Given the description of an element on the screen output the (x, y) to click on. 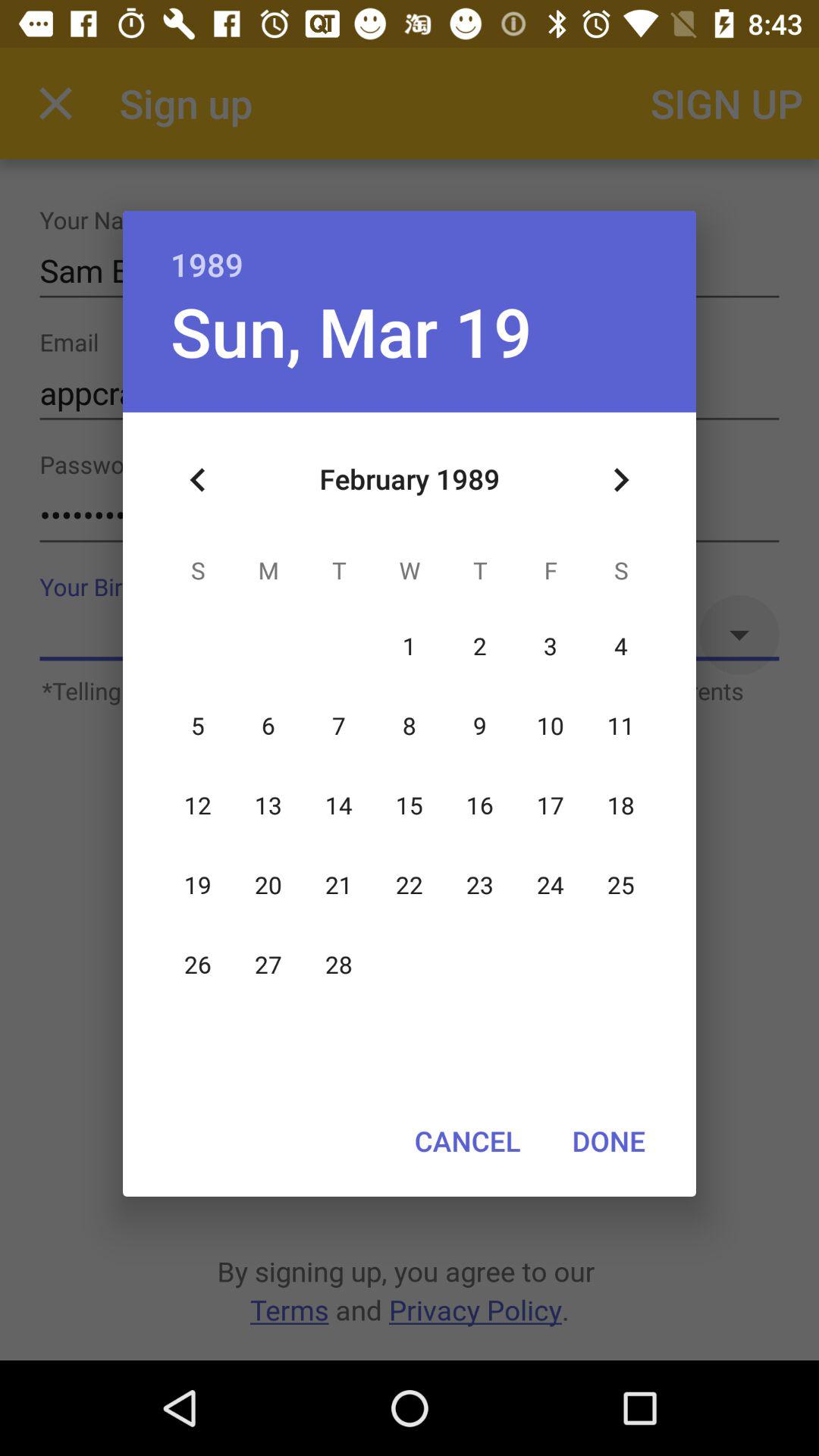
press the item next to cancel icon (608, 1140)
